Given the description of an element on the screen output the (x, y) to click on. 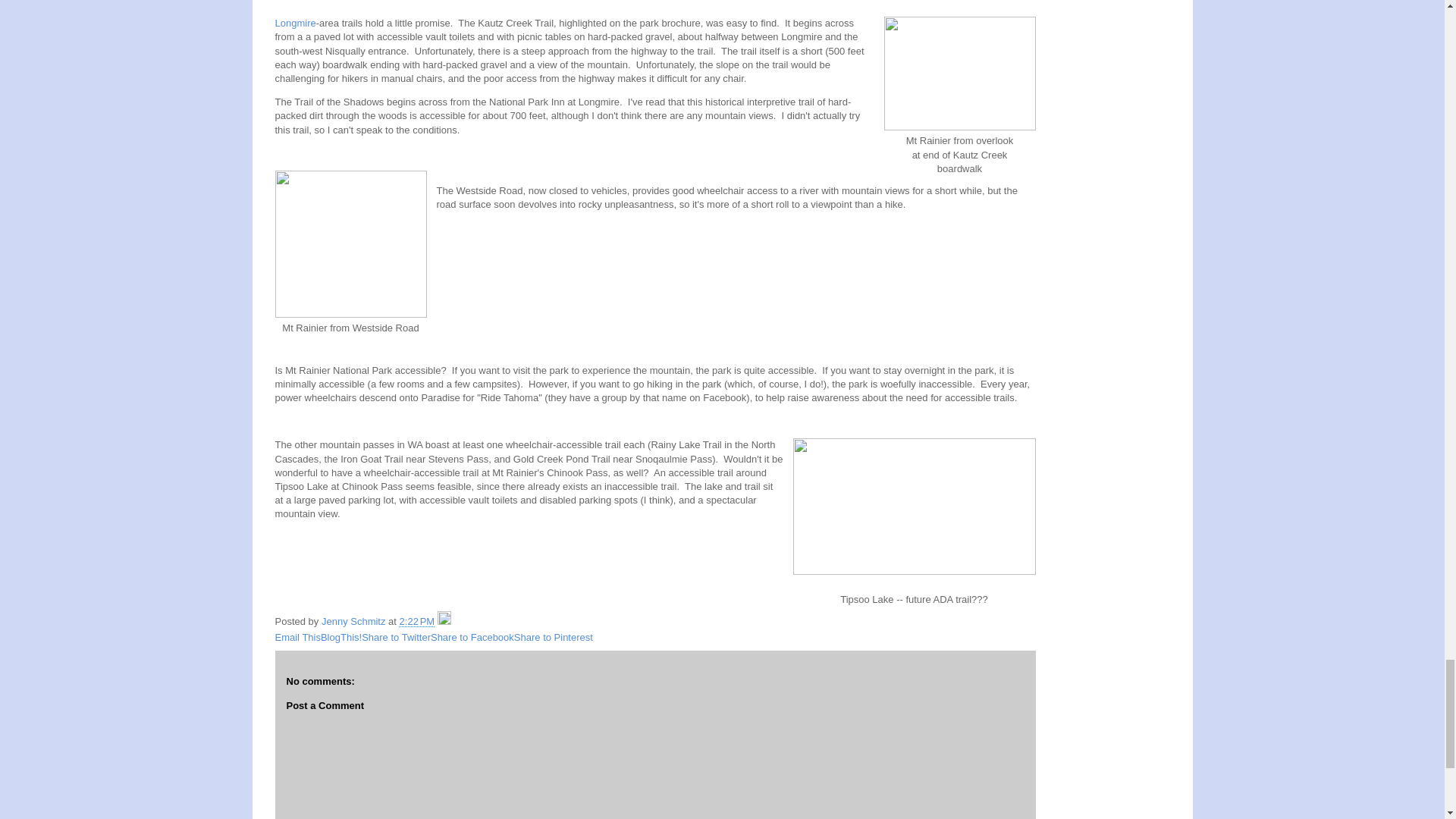
Edit Post (444, 621)
Longmire (295, 22)
Share to Twitter (395, 636)
author profile (354, 621)
Email This (297, 636)
Share to Facebook (471, 636)
BlogThis! (340, 636)
Share to Pinterest (552, 636)
permanent link (416, 621)
